Given the description of an element on the screen output the (x, y) to click on. 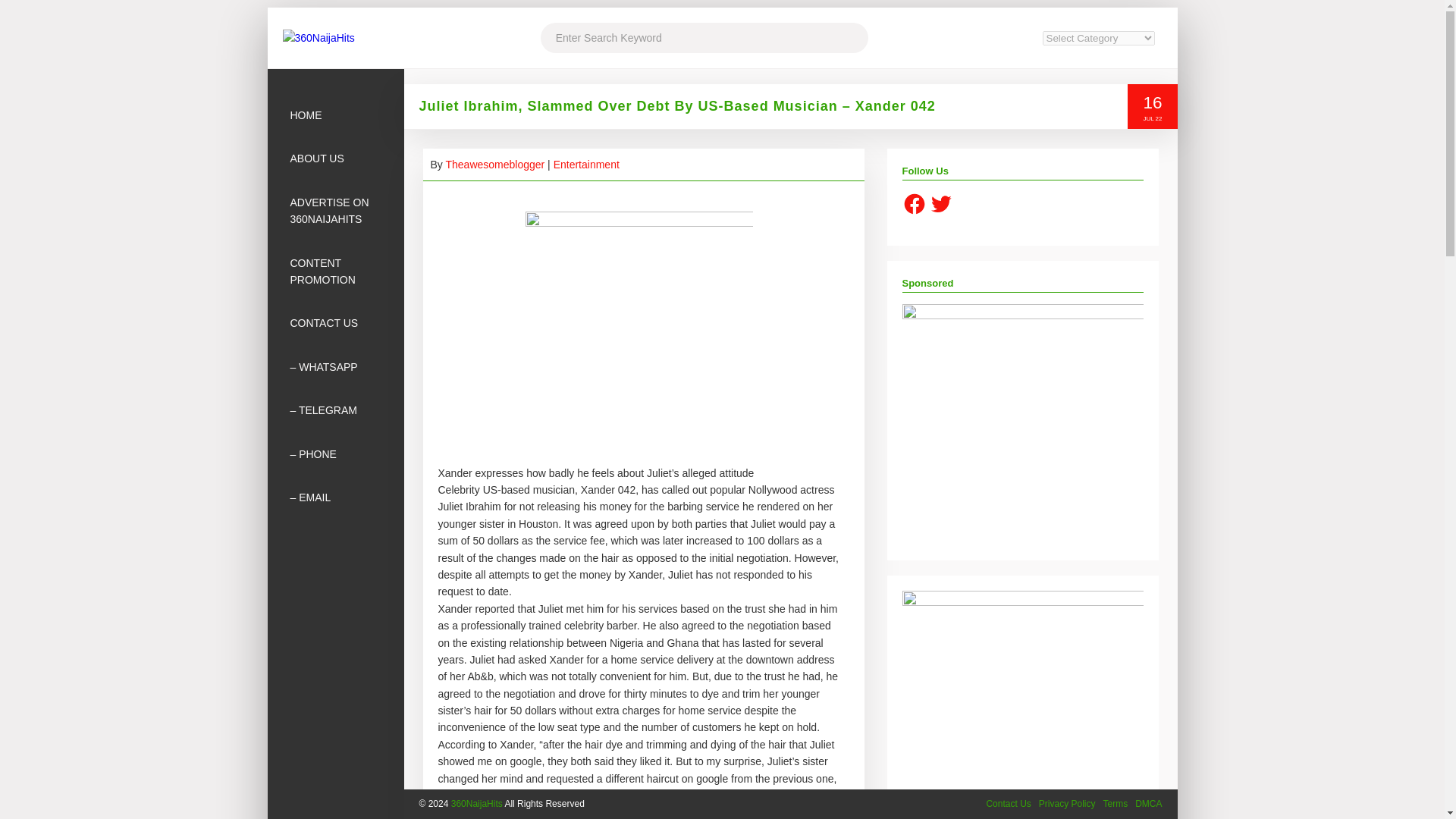
CONTACT US (334, 323)
Twitter (940, 203)
ADVERTISE ON 360NAIJAHITS (334, 210)
Entertainment (586, 164)
CONTENT PROMOTION (334, 271)
ABOUT US (334, 158)
Facebook (914, 203)
Posts by Theawesomeblogger (494, 164)
Theawesomeblogger (494, 164)
HOME (334, 115)
